Given the description of an element on the screen output the (x, y) to click on. 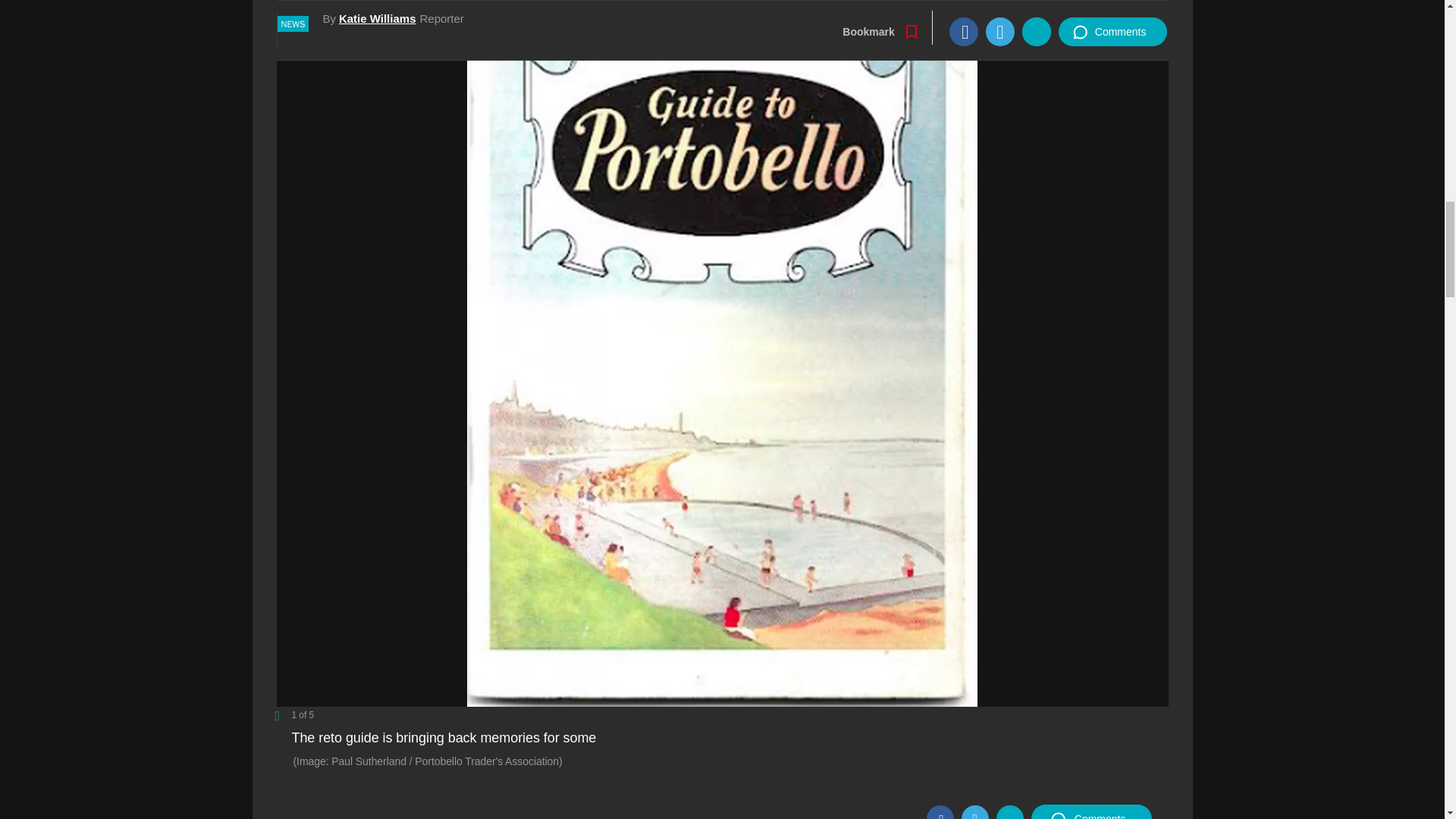
Facebook (939, 812)
Comments (1090, 811)
Twitter (974, 812)
